Given the description of an element on the screen output the (x, y) to click on. 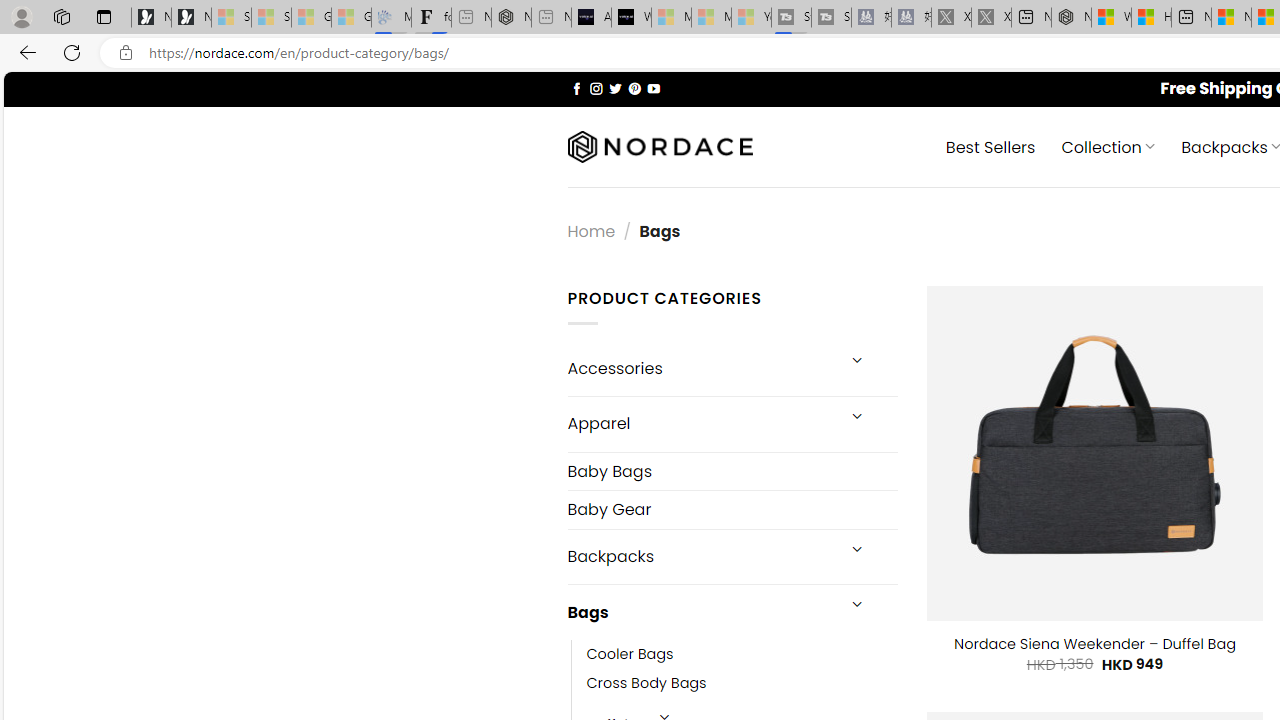
 Best Sellers (989, 146)
Cross Body Bags (646, 683)
Cooler Bags (742, 655)
Follow on Facebook (576, 88)
What's the best AI voice generator? - voice.ai (631, 17)
Bags (700, 613)
